Given the description of an element on the screen output the (x, y) to click on. 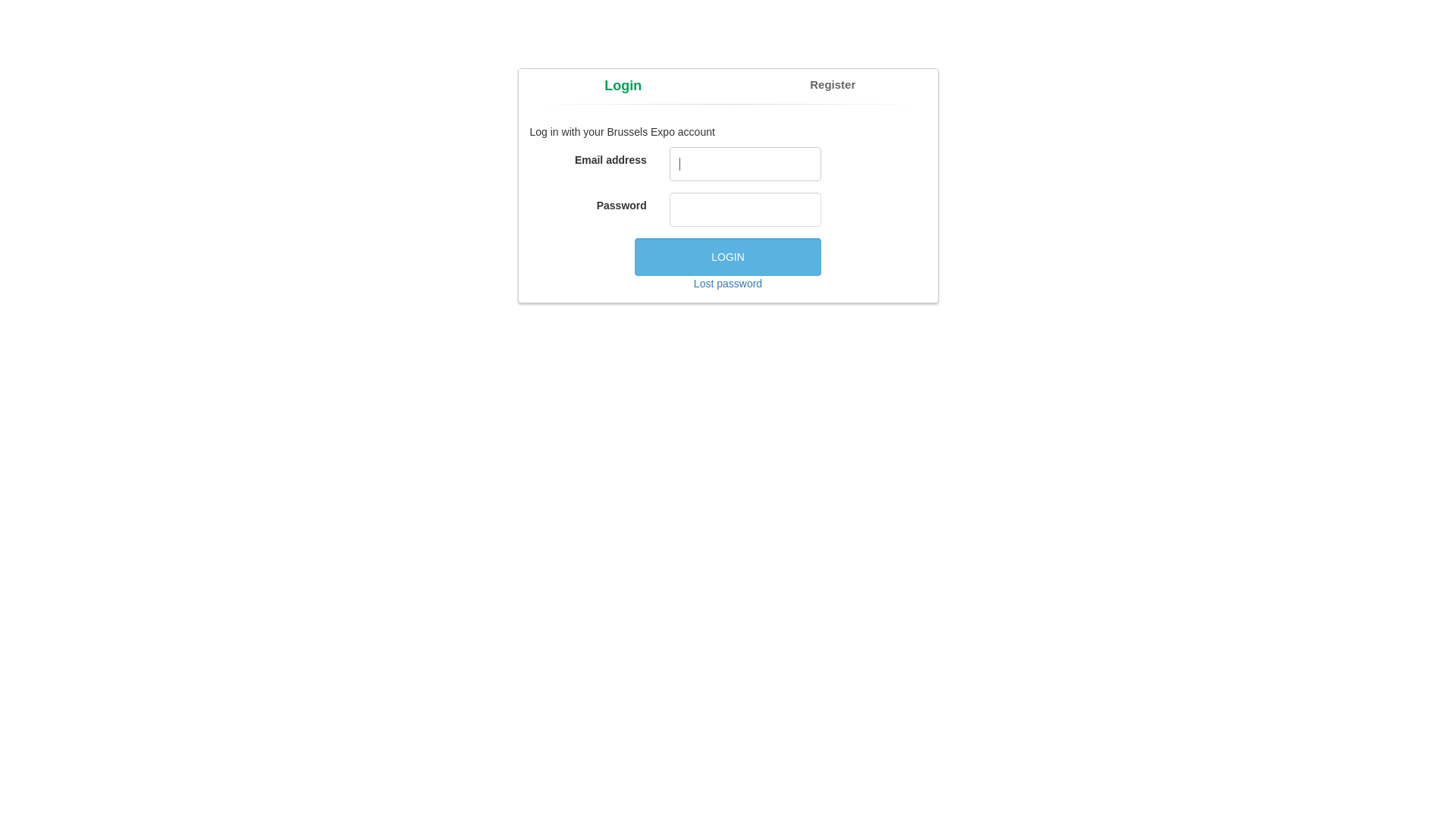
Register Element type: text (832, 84)
Lost password Element type: text (727, 283)
LOGIN Element type: text (728, 257)
Login Element type: text (622, 85)
